Given the description of an element on the screen output the (x, y) to click on. 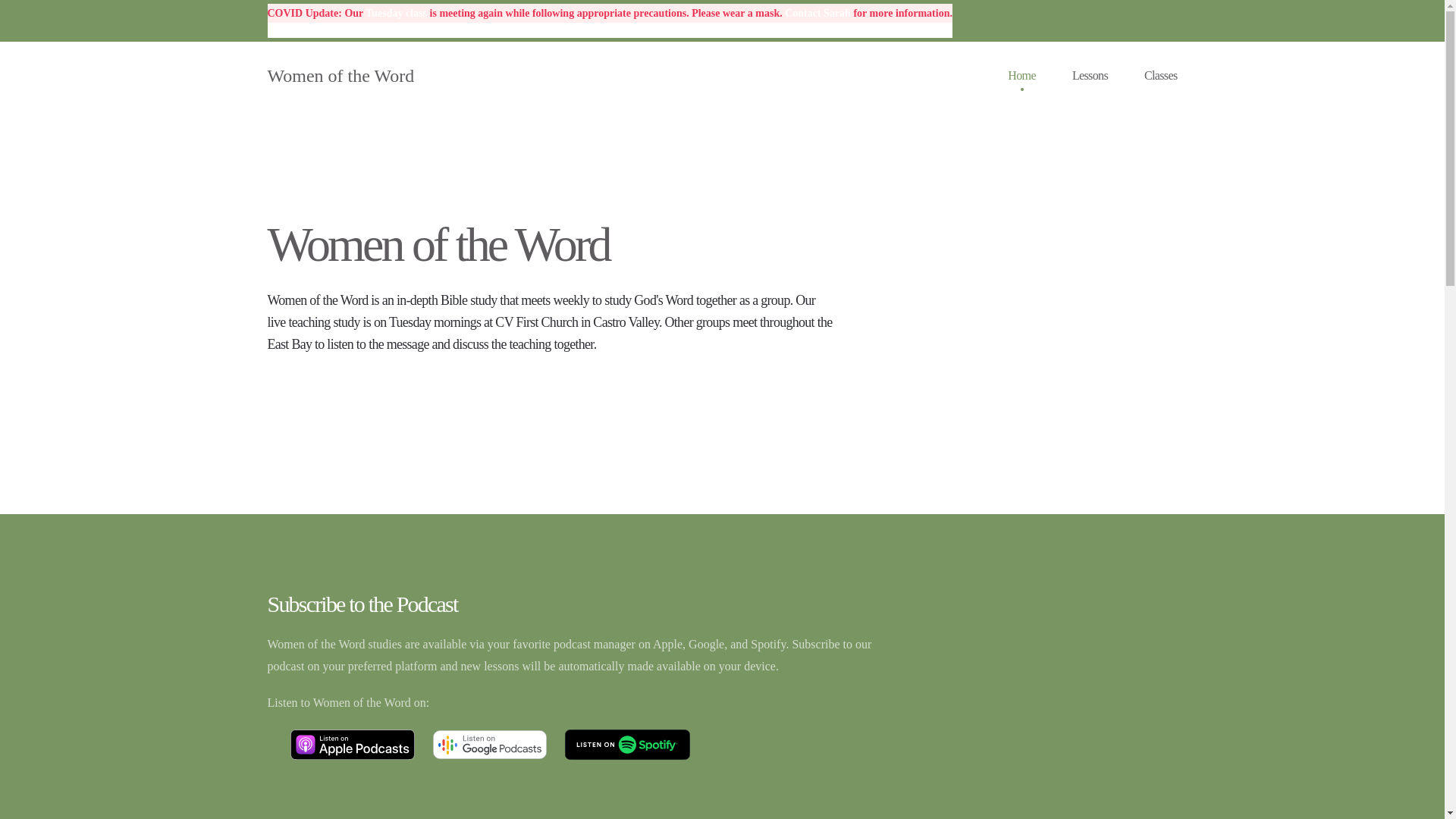
Women of the Word Element type: text (340, 75)
Lessons Element type: text (1090, 75)
Classes Element type: text (1160, 75)
Tuesday class Element type: text (395, 12)
Home Element type: text (1021, 75)
Contact Sarah Element type: text (817, 12)
